Given the description of an element on the screen output the (x, y) to click on. 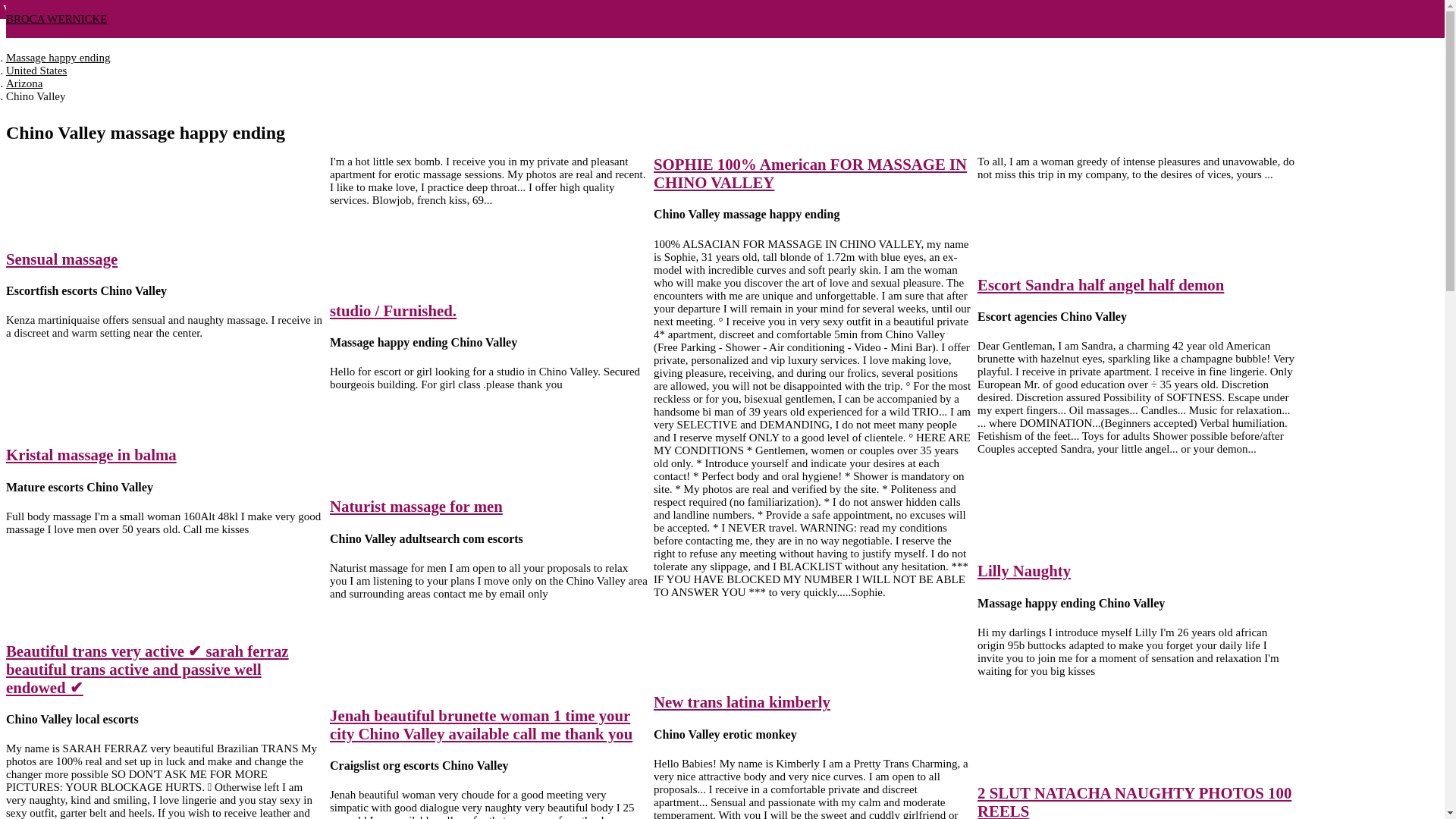
Kristal massage in balma (90, 454)
Massage happy ending (57, 57)
BROCA WERNICKE (55, 19)
United States (35, 70)
New trans latina kimberly (741, 701)
Naturist massage for men (416, 506)
Arizona (23, 82)
Sensual massage (61, 258)
